Given the description of an element on the screen output the (x, y) to click on. 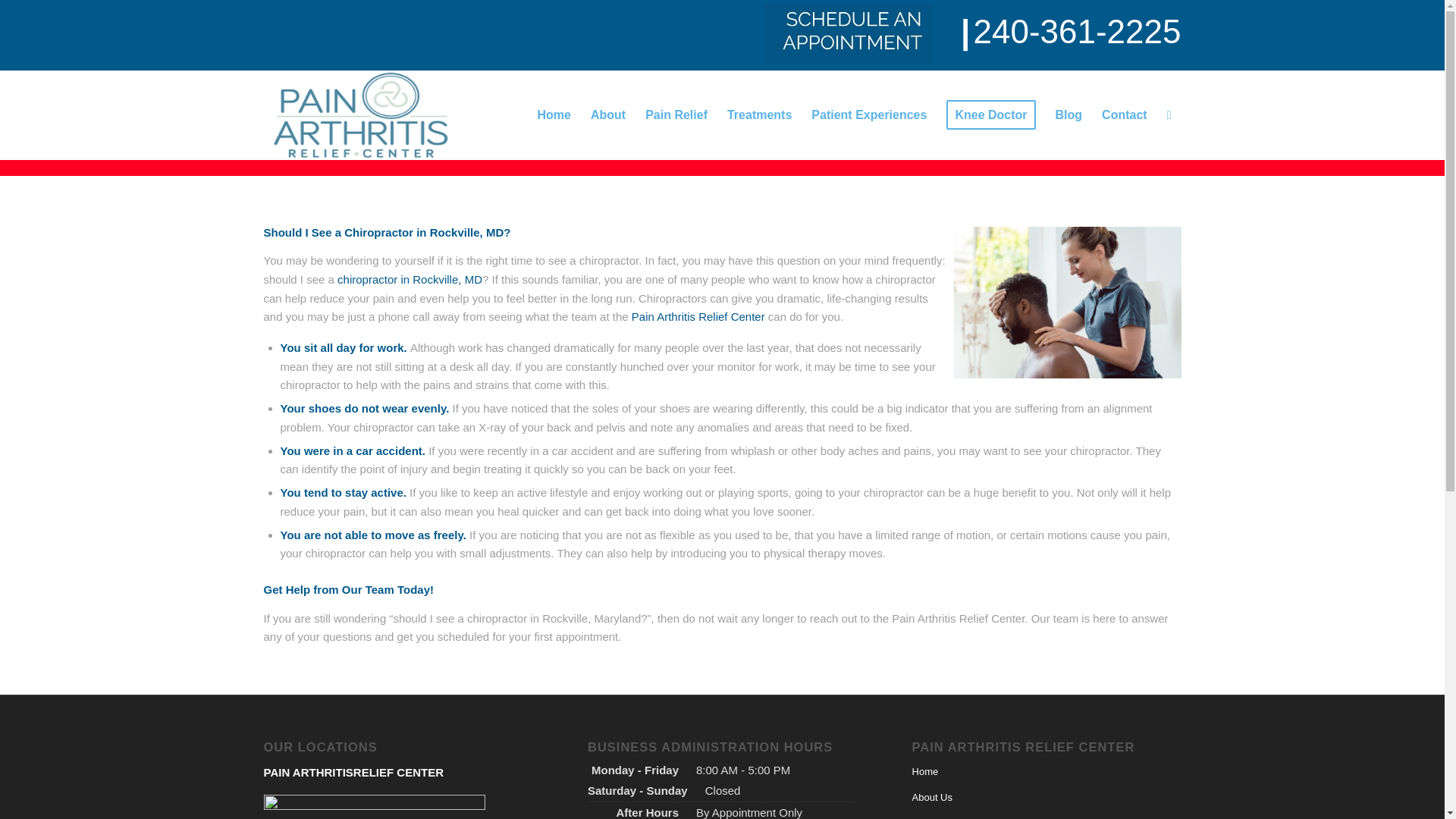
Pain Relief (675, 114)
Patient Experiences (869, 114)
Knee Doctor (990, 114)
240-361-2225 (1076, 31)
Treatments (759, 114)
